Given the description of an element on the screen output the (x, y) to click on. 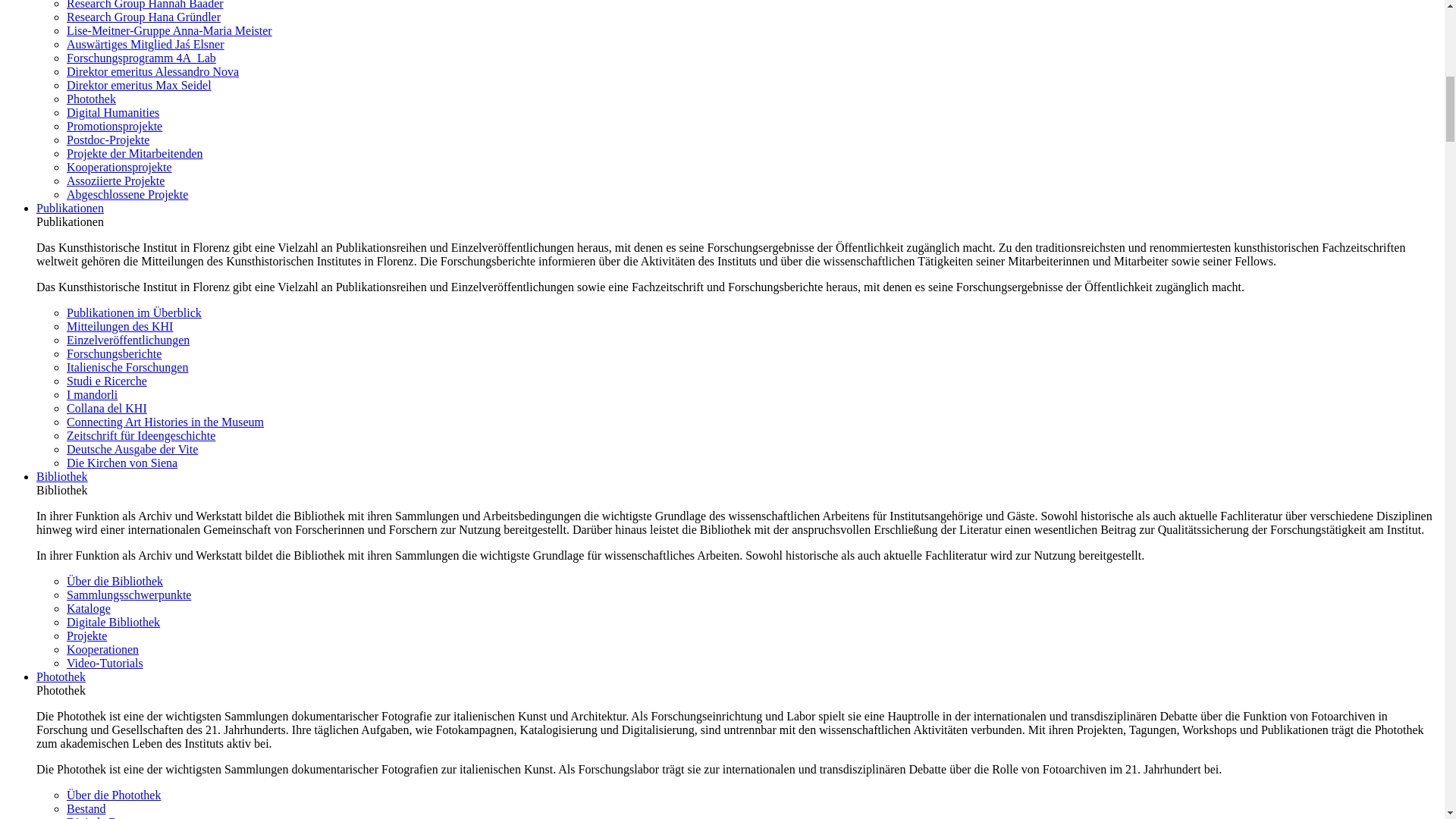
Assoziierte Projekte (115, 180)
Lise-Meitner-Gruppe Anna-Maria Meister (169, 30)
Photothek (91, 98)
Projekte der Mitarbeitenden (134, 153)
Direktor emeritus Alessandro Nova (152, 71)
Postdoc-Projekte (107, 139)
Kooperationsprojekte (118, 166)
Direktor emeritus Max Seidel (138, 84)
Research Group Hannah Baader (145, 4)
Promotionsprojekte (113, 125)
Digital Humanities (112, 112)
